Given the description of an element on the screen output the (x, y) to click on. 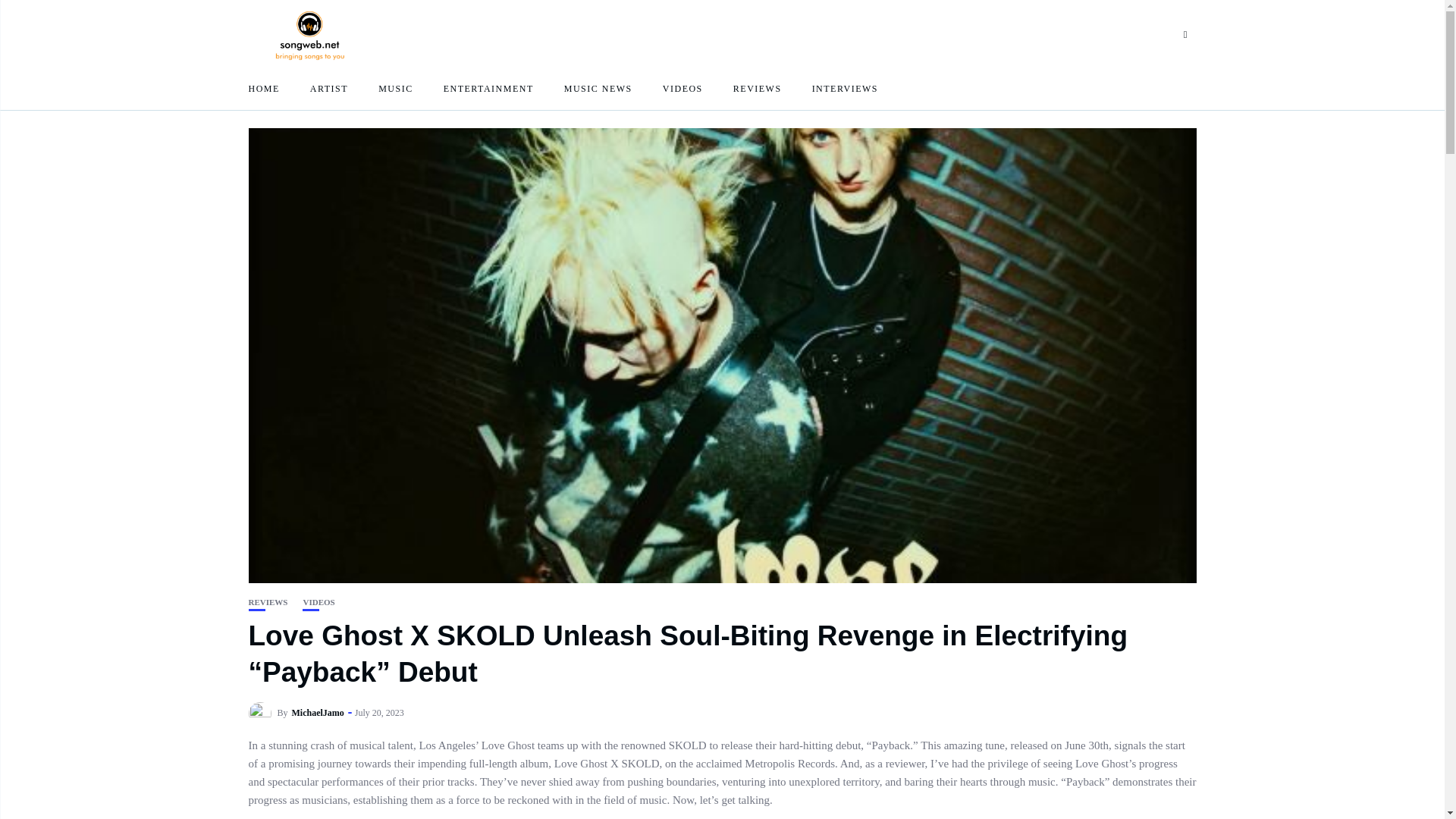
VIDEOS (682, 88)
VIDEOS (318, 602)
REVIEWS (757, 88)
Posts by MichaelJamo (317, 712)
MUSIC NEWS (597, 88)
INTERVIEWS (844, 88)
ENTERTAINMENT (489, 88)
ARTIST (328, 88)
REVIEWS (268, 602)
MichaelJamo (317, 712)
